Given the description of an element on the screen output the (x, y) to click on. 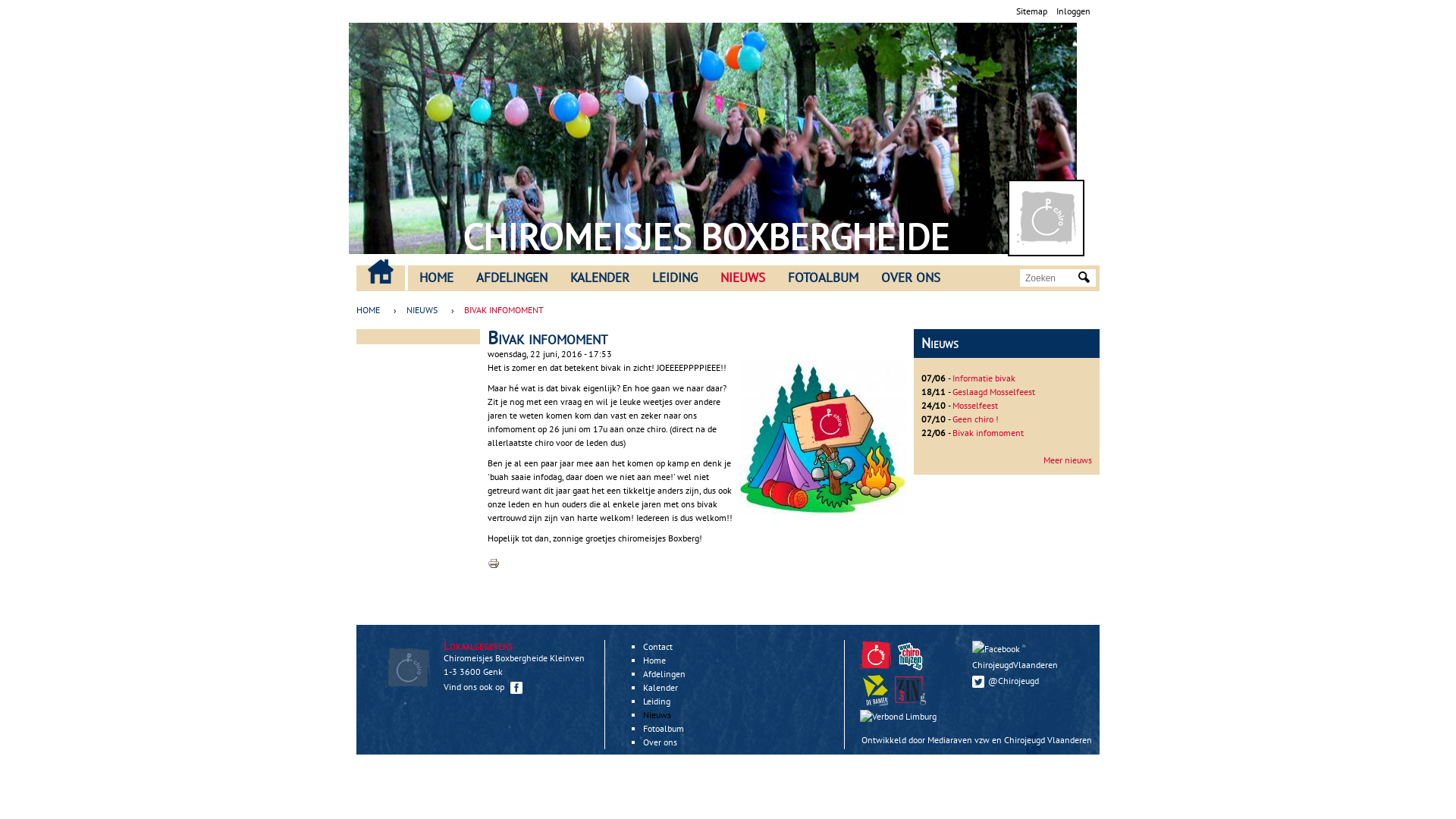
HOME Element type: text (435, 278)
Chirojeugd Vlaanderen Element type: hover (876, 667)
Informatie bivak Element type: text (983, 377)
NIEUWS Element type: text (742, 278)
Twitter Element type: hover (978, 681)
KALENDER Element type: text (599, 278)
Leiding Element type: text (656, 700)
HOME Element type: text (371, 309)
Bivak infomoment Element type: text (987, 432)
Over ons Element type: text (660, 741)
ChirojeugdVlaanderen Element type: text (1028, 656)
Home Element type: text (654, 659)
De Banier Element type: hover (875, 690)
AFDELINGEN Element type: text (511, 278)
Facebook Element type: hover (995, 648)
Geef de woorden op waarnaar u wilt zoeken. Element type: hover (1049, 277)
Zindering Element type: hover (909, 690)
NIEUWS Element type: text (421, 309)
Fotoalbum Element type: text (663, 728)
Zindering Element type: hover (911, 702)
Contact Element type: text (657, 646)
LEIDING Element type: text (674, 278)
Geen chiro ! Element type: text (975, 418)
FOTOALBUM Element type: text (822, 278)
Mediaraven vzw Element type: text (958, 739)
Verbond Limburg Element type: hover (897, 716)
Geslaagd Mosselfeest Element type: text (993, 391)
Kalender Element type: text (660, 687)
Home Element type: hover (1045, 217)
CHIROMEISJES BOXBERGHEIDE Element type: text (705, 236)
Chirojeugd Vlaanderen Element type: hover (875, 655)
Chirohuizen Element type: hover (909, 655)
@Chirojeugd Element type: text (1028, 680)
Bivak infomoment Element type: hover (822, 510)
OVER ONS Element type: text (910, 278)
Sitemap Element type: text (1031, 10)
CONTACT Element type: text (380, 271)
Zindering Element type: hover (899, 715)
Afdelingen Element type: text (664, 673)
Afdrukbare versie Element type: hover (493, 565)
Nieuws Element type: text (657, 714)
Meer nieuws Element type: text (1067, 459)
Home Element type: hover (407, 215)
Chirohuizen Element type: hover (911, 667)
De Banier Element type: hover (876, 702)
Mosselfeest Element type: text (974, 405)
Inloggen Element type: text (1073, 10)
Chirojeugd Vlaanderen Element type: text (1048, 739)
Facebook Element type: hover (516, 687)
